Given the description of an element on the screen output the (x, y) to click on. 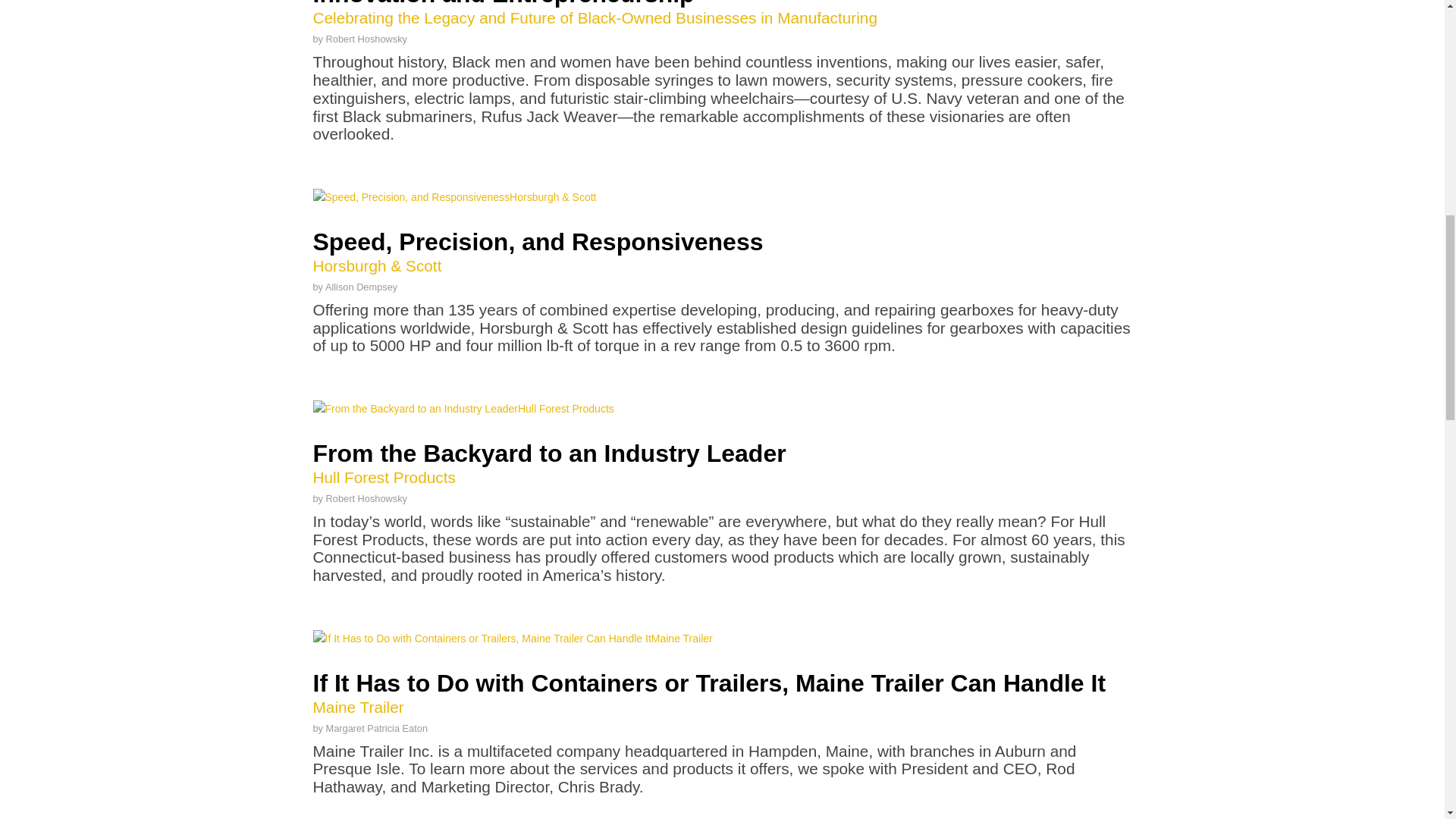
Posts by Allison Dempsey (722, 464)
Allison Dempsey (360, 286)
Robert Hoshowsky (360, 286)
Posts by Margaret Patricia Eaton (366, 498)
Posts by Robert Hoshowsky (377, 727)
Margaret Patricia Eaton (366, 39)
Posts by Robert Hoshowsky (377, 727)
